Given the description of an element on the screen output the (x, y) to click on. 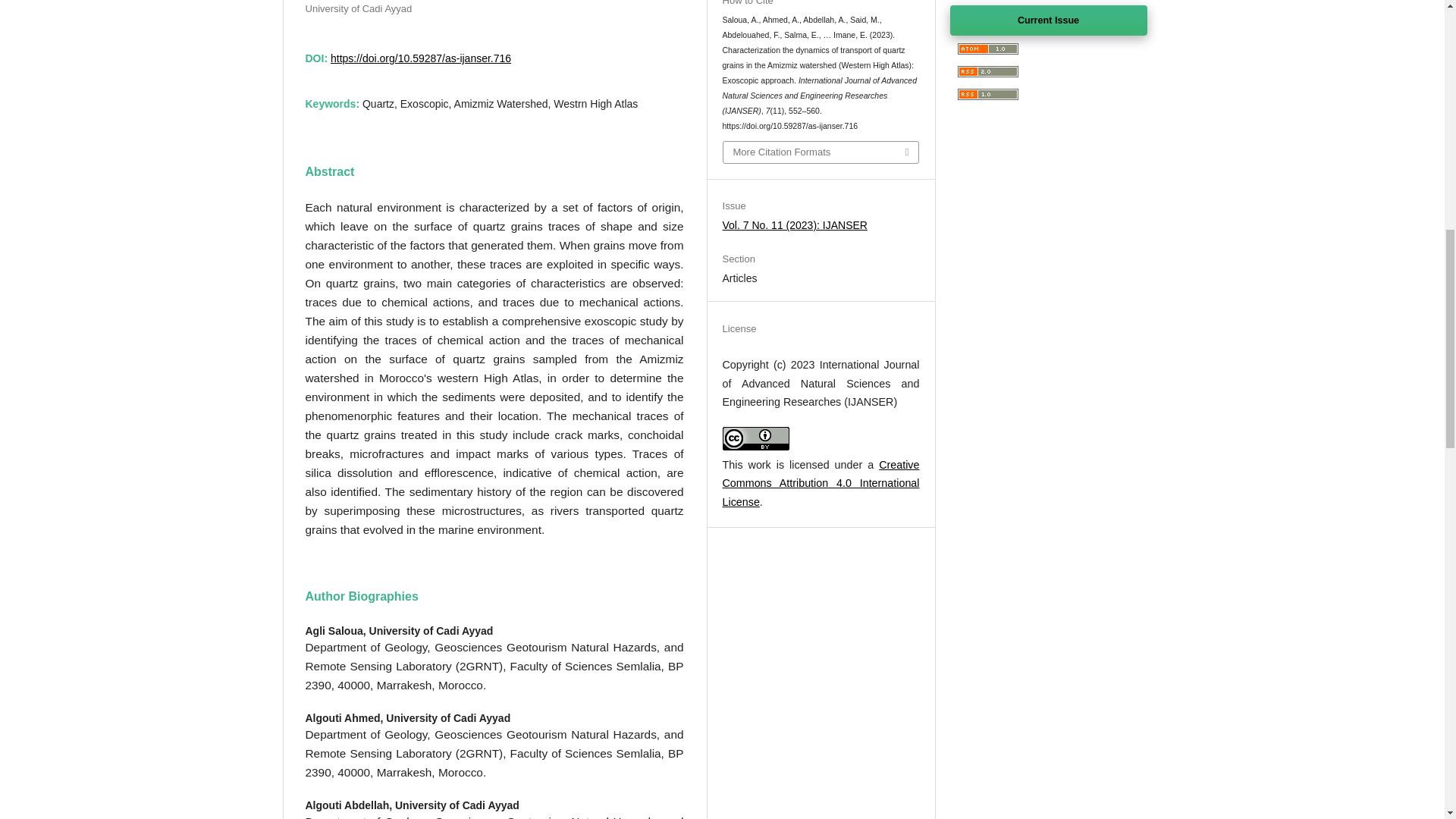
More Citation Formats (820, 151)
